Given the description of an element on the screen output the (x, y) to click on. 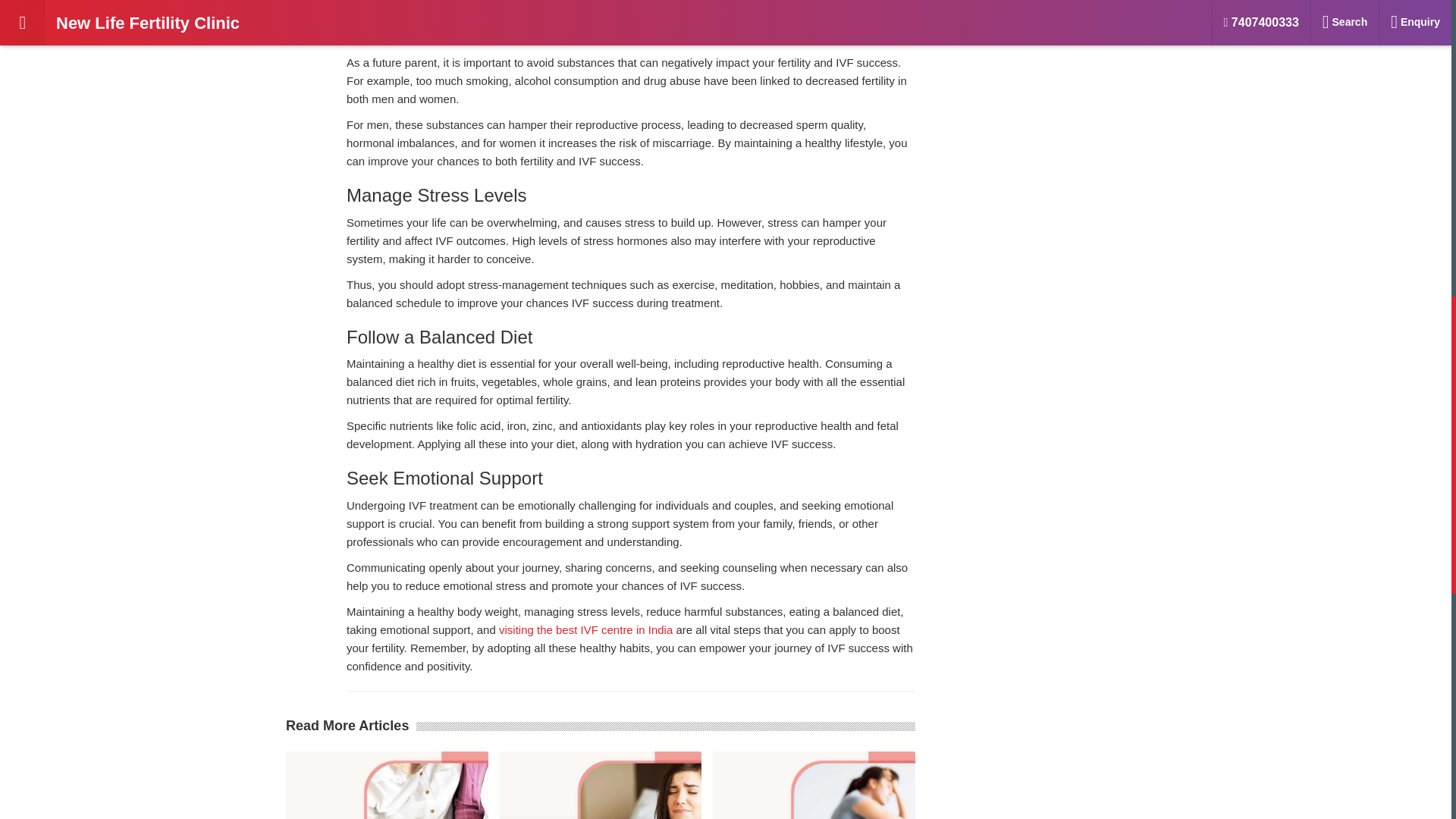
IVF and Age: What Are Your Chances? (1051, 3)
visiting the best IVF centre in India (585, 629)
